Given the description of an element on the screen output the (x, y) to click on. 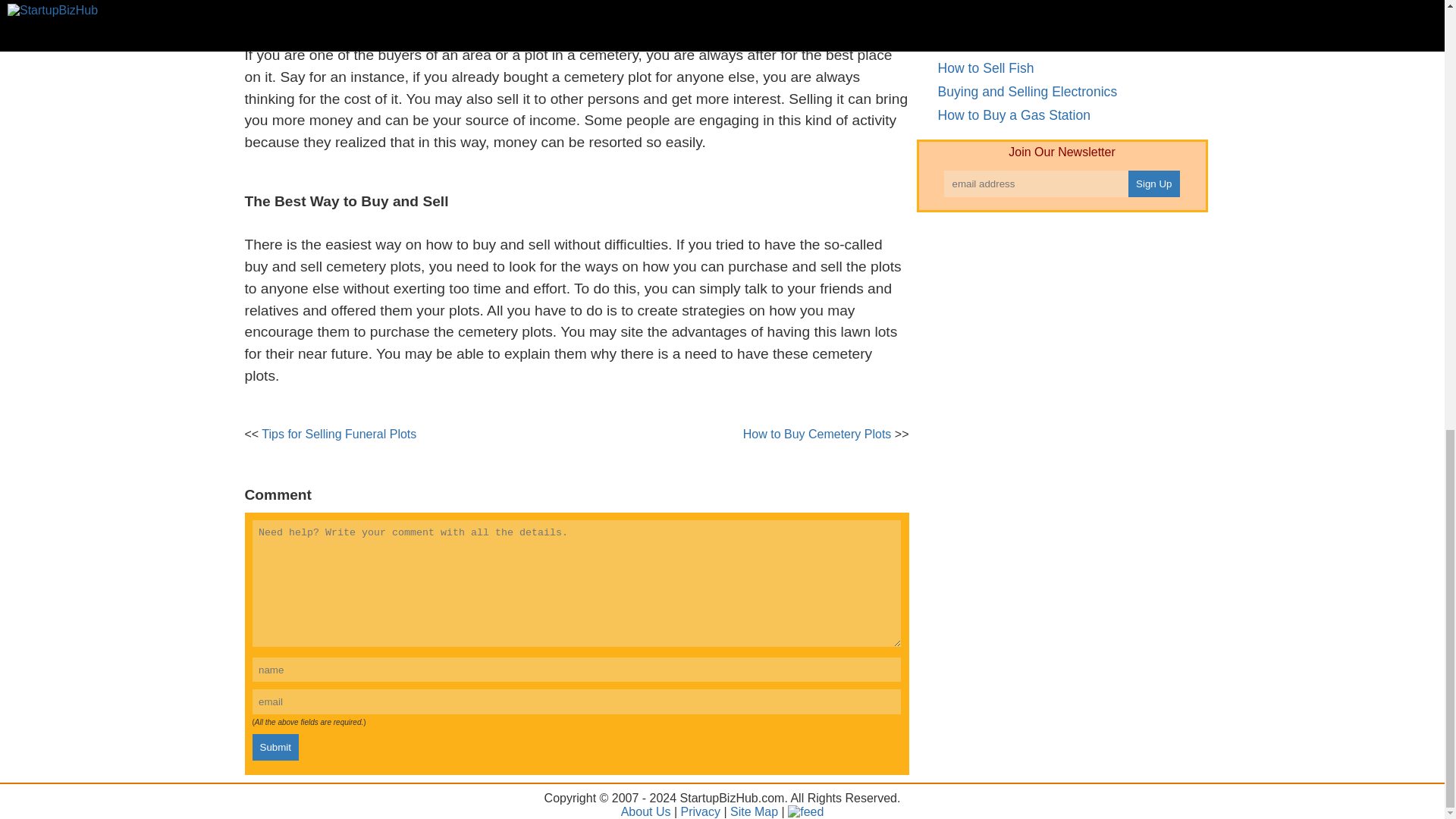
Submit (274, 746)
Submit (274, 746)
Tips for Selling Funeral Plots (339, 433)
How to Buy Cemetery Plots (816, 433)
Sign Up (1153, 183)
